Given the description of an element on the screen output the (x, y) to click on. 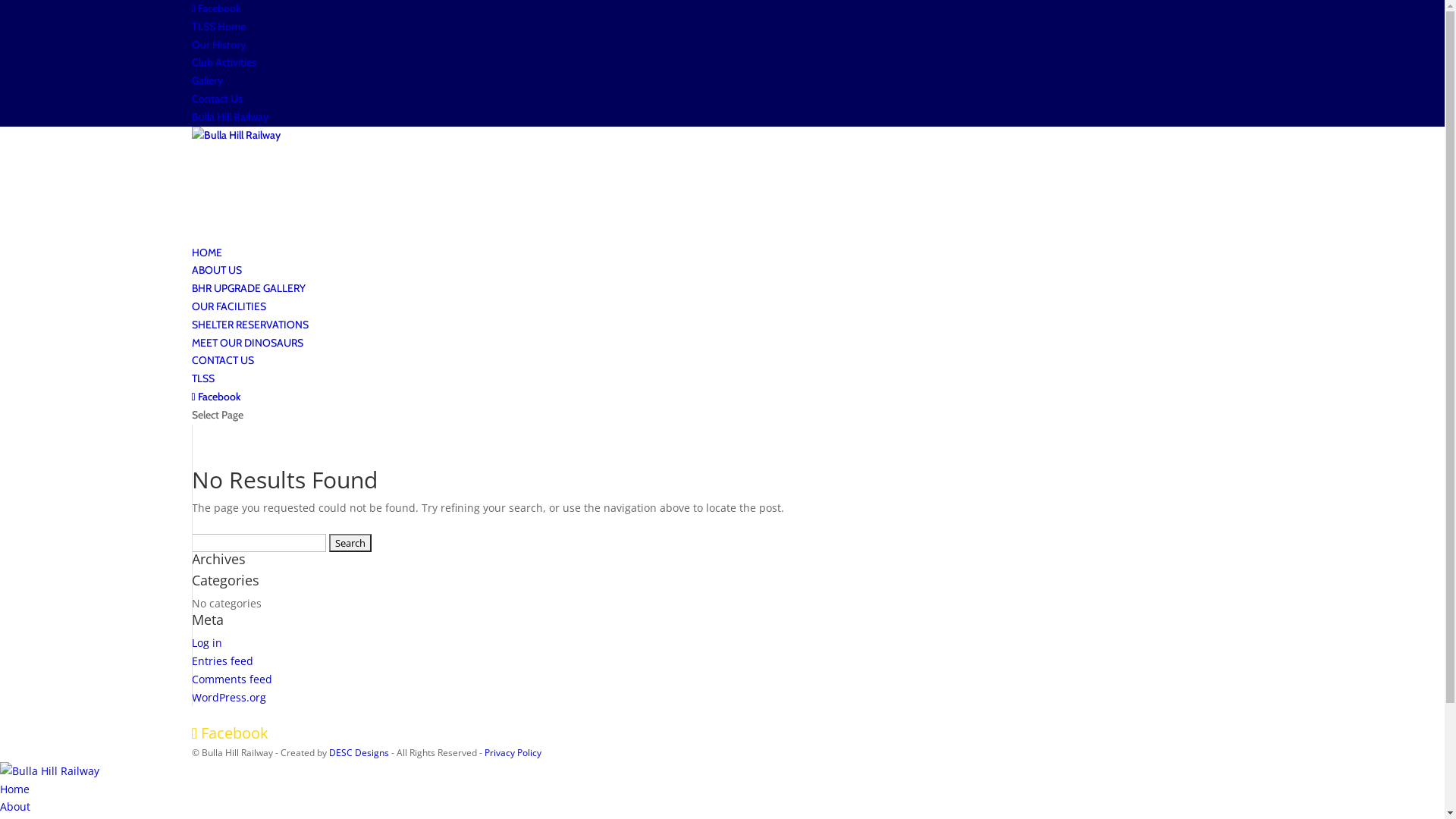
SHELTER RESERVATIONS Element type: text (249, 334)
TLSS Home Element type: text (217, 26)
OUR FACILITIES Element type: text (228, 316)
CONTACT US Element type: text (222, 370)
Entries feed Element type: text (221, 660)
ABOUT US Element type: text (216, 280)
Privacy Policy Element type: text (511, 752)
Club Activities Element type: text (223, 62)
Home Element type: text (14, 788)
Contact Us Element type: text (216, 98)
WordPress.org Element type: text (228, 697)
MEET OUR DINOSAURS Element type: text (246, 352)
Our History Element type: text (217, 44)
Comments feed Element type: text (231, 678)
DESC Designs Element type: text (360, 752)
BHR UPGRADE GALLERY Element type: text (247, 287)
About Element type: text (15, 806)
Facebook Element type: text (229, 732)
Facebook Element type: text (215, 396)
TLSS Element type: text (202, 388)
Bulla Hill Railway Element type: text (229, 116)
Log in Element type: text (206, 642)
Search Element type: text (350, 542)
Facebook Element type: text (215, 8)
Gallery Element type: text (206, 80)
HOME Element type: text (206, 262)
